Given the description of an element on the screen output the (x, y) to click on. 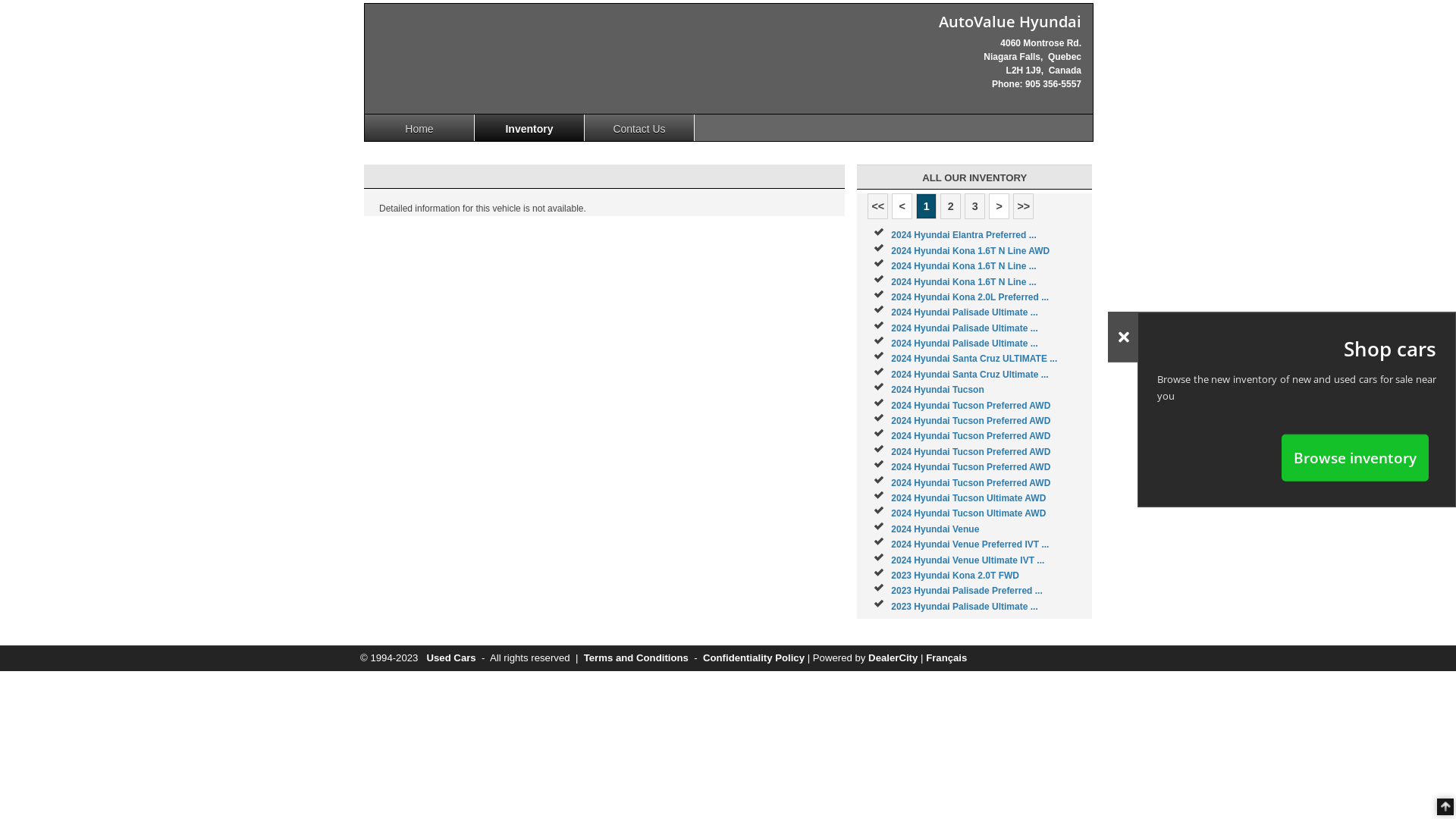
2024 Hyundai Palisade Ultimate ... Element type: text (964, 343)
2024 Hyundai Santa Cruz Ultimate ... Element type: text (969, 374)
1 Element type: text (926, 206)
2024 Hyundai Tucson Preferred AWD Element type: text (970, 451)
2024 Hyundai Kona 1.6T N Line ... Element type: text (963, 281)
2024 Hyundai Kona 1.6T N Line ... Element type: text (963, 265)
2024 Hyundai Tucson Preferred AWD Element type: text (970, 482)
DealerCity Element type: text (892, 657)
Terms and Conditions Element type: text (635, 657)
2024 Hyundai Venue Preferred IVT ... Element type: text (969, 544)
2024 Hyundai Elantra Preferred ... Element type: text (963, 234)
3 Element type: text (974, 206)
<< Element type: text (877, 206)
2024 Hyundai Tucson Ultimate AWD Element type: text (968, 513)
Home Element type: text (419, 127)
Used Cars Element type: text (450, 657)
2024 Hyundai Kona 1.6T N Line AWD Element type: text (970, 250)
>> Element type: text (1023, 206)
2024 Hyundai Tucson Element type: text (937, 389)
2023 Hyundai Palisade Preferred ... Element type: text (966, 590)
2024 Hyundai Tucson Preferred AWD Element type: text (970, 420)
2024 Hyundai Tucson Preferred AWD Element type: text (970, 435)
2023 Hyundai Kona 2.0T FWD Element type: text (955, 575)
< Element type: text (901, 206)
Browse inventory Element type: text (1354, 457)
2 Element type: text (950, 206)
2024 Hyundai Tucson Preferred AWD Element type: text (970, 466)
2024 Hyundai Venue Element type: text (935, 529)
2024 Hyundai Kona 2.0L Preferred ... Element type: text (969, 296)
2024 Hyundai Tucson Ultimate AWD Element type: text (968, 497)
Contact Us Element type: text (639, 127)
2024 Hyundai Santa Cruz ULTIMATE ... Element type: text (974, 358)
2024 Hyundai Tucson Preferred AWD Element type: text (970, 405)
2024 Hyundai Palisade Ultimate ... Element type: text (964, 328)
> Element type: text (998, 206)
Inventory Element type: text (529, 127)
2023 Hyundai Palisade Ultimate ... Element type: text (964, 606)
Confidentiality Policy Element type: text (753, 657)
2024 Hyundai Palisade Ultimate ... Element type: text (964, 312)
2024 Hyundai Venue Ultimate IVT ... Element type: text (967, 560)
